Given the description of an element on the screen output the (x, y) to click on. 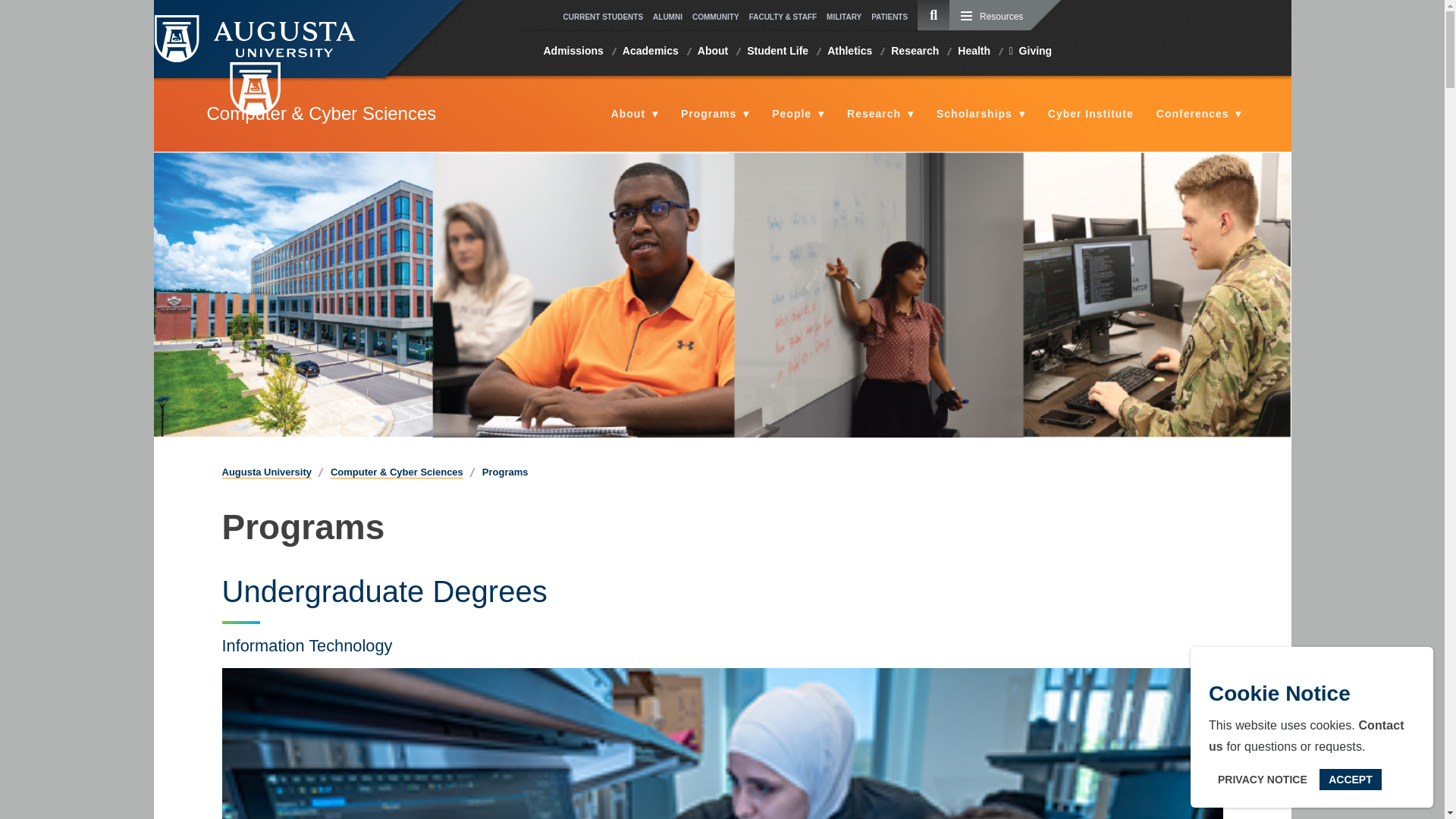
Health (975, 53)
Academics (652, 53)
  Giving (1031, 53)
About (714, 53)
ALUMNI (672, 16)
PATIENTS (893, 16)
COMMUNITY (721, 16)
Admissions (574, 53)
Research (916, 53)
About (634, 113)
MILITARY (848, 16)
Student Life (779, 53)
CURRENT STUDENTS (607, 16)
Athletics (851, 53)
